Given the description of an element on the screen output the (x, y) to click on. 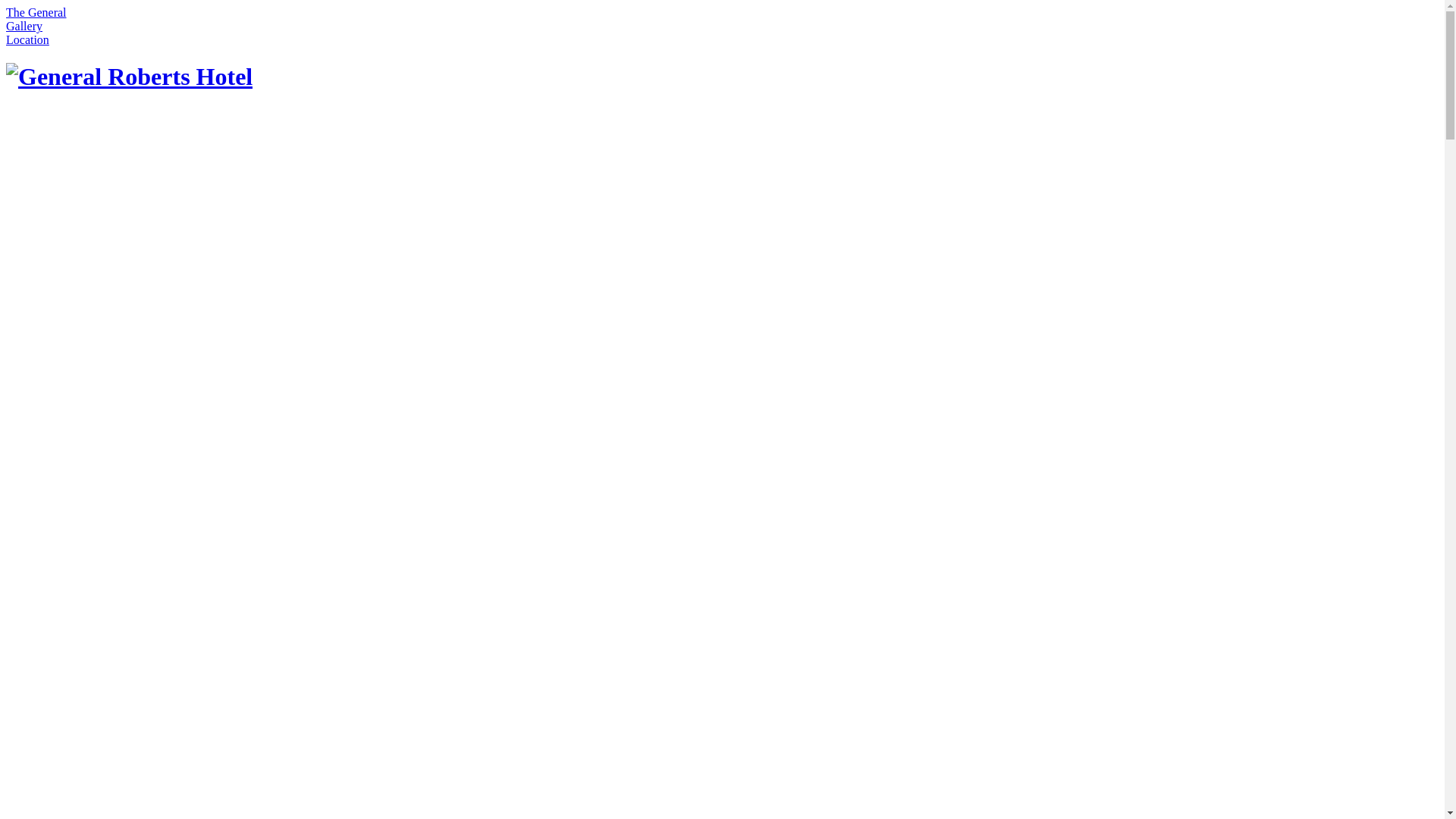
Location Element type: text (27, 39)
The General Element type: text (36, 12)
Gallery Element type: text (24, 25)
